Given the description of an element on the screen output the (x, y) to click on. 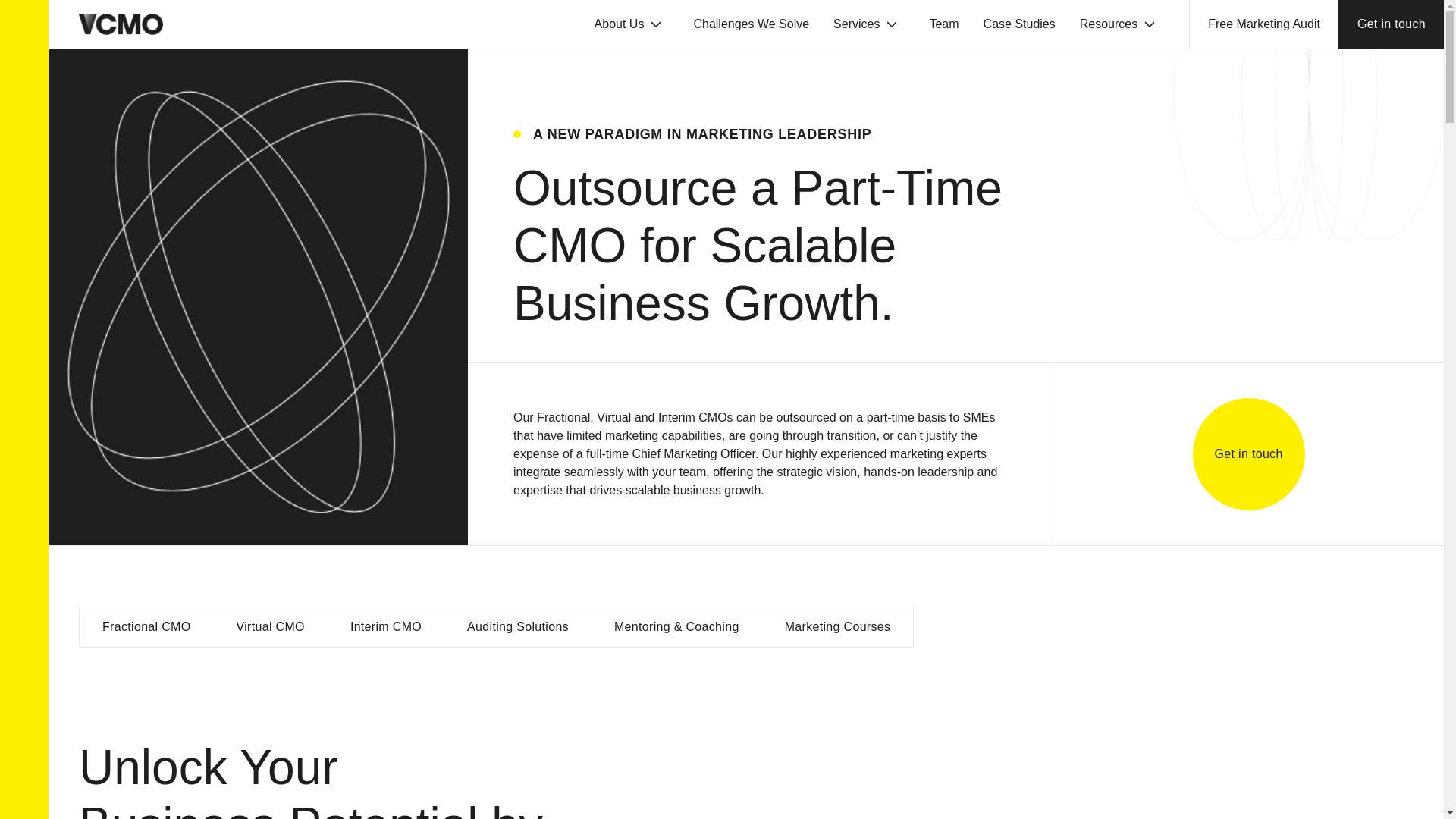
Get in touch (1248, 454)
Interim CMO (385, 627)
Case Studies (1019, 24)
Fractional CMO (147, 627)
Free Marketing Audit (1263, 24)
Auditing Solutions (517, 627)
Marketing Courses (837, 627)
Team (943, 24)
Virtual CMO (270, 627)
Get in touch (1391, 24)
